Given the description of an element on the screen output the (x, y) to click on. 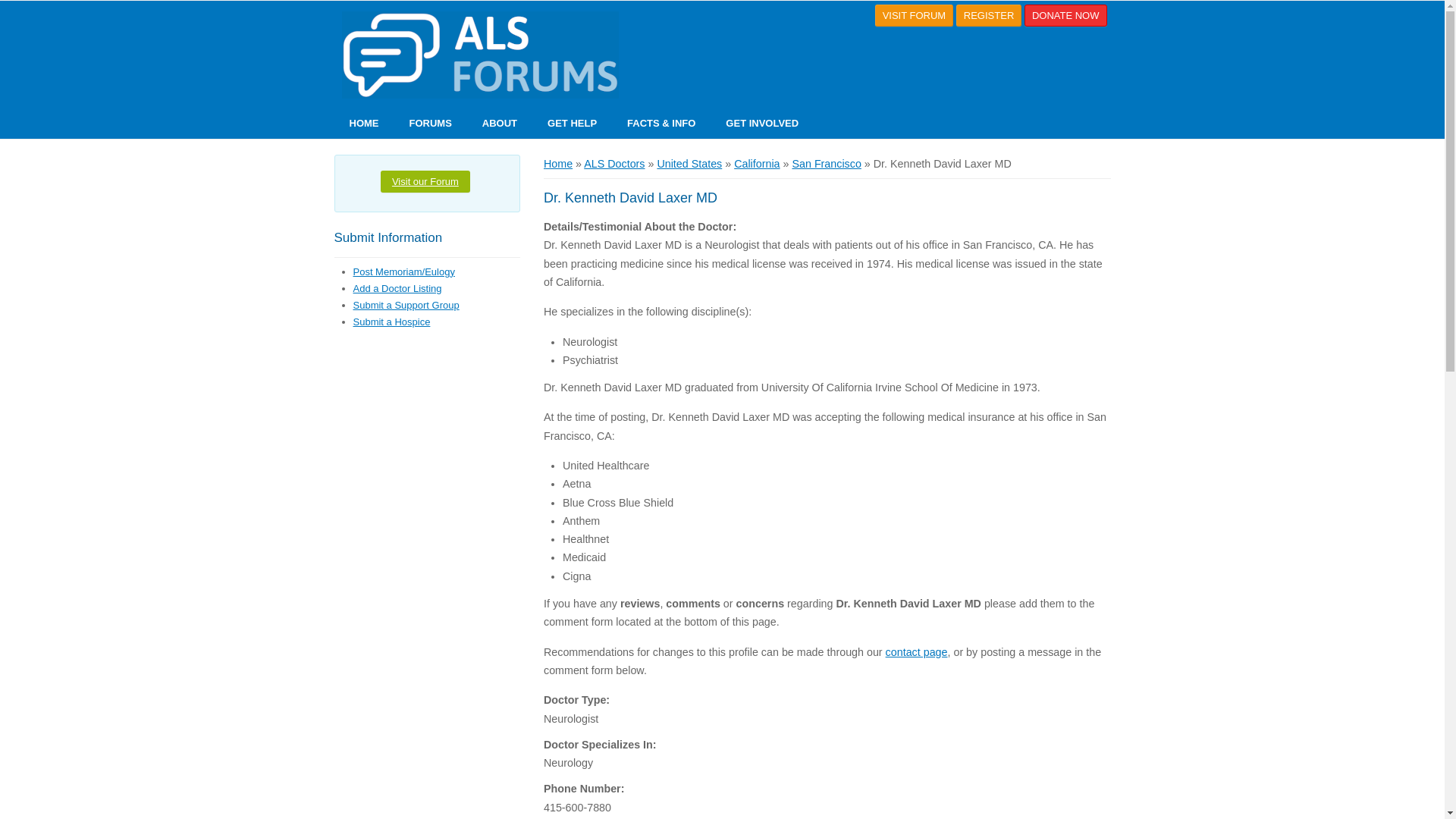
Submit a Hospice (391, 321)
ALS Doctors (614, 163)
California (755, 163)
Get help with ALS and MND (571, 122)
Home (557, 163)
GET HELP (571, 122)
HOME (363, 122)
ALS doctors in United States (689, 163)
ABOUT (499, 122)
United States (689, 163)
